Given the description of an element on the screen output the (x, y) to click on. 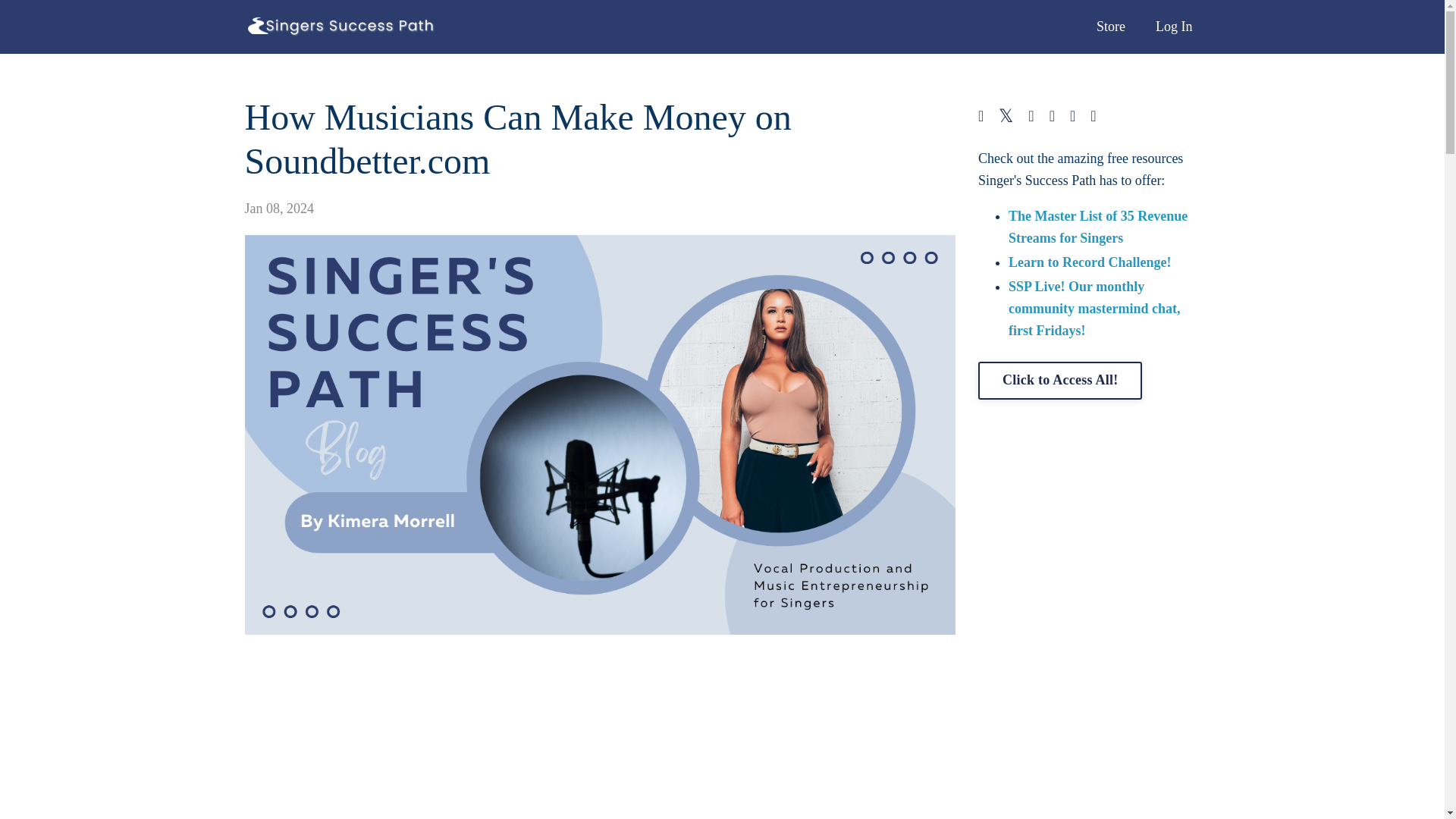
Learn to Record Challenge! (1089, 262)
Log In (1174, 26)
YouTube video player (599, 734)
The Master List of 35 Revenue Streams for Singers (1098, 226)
Store (1110, 26)
Click to Access All! (1059, 380)
